Given the description of an element on the screen output the (x, y) to click on. 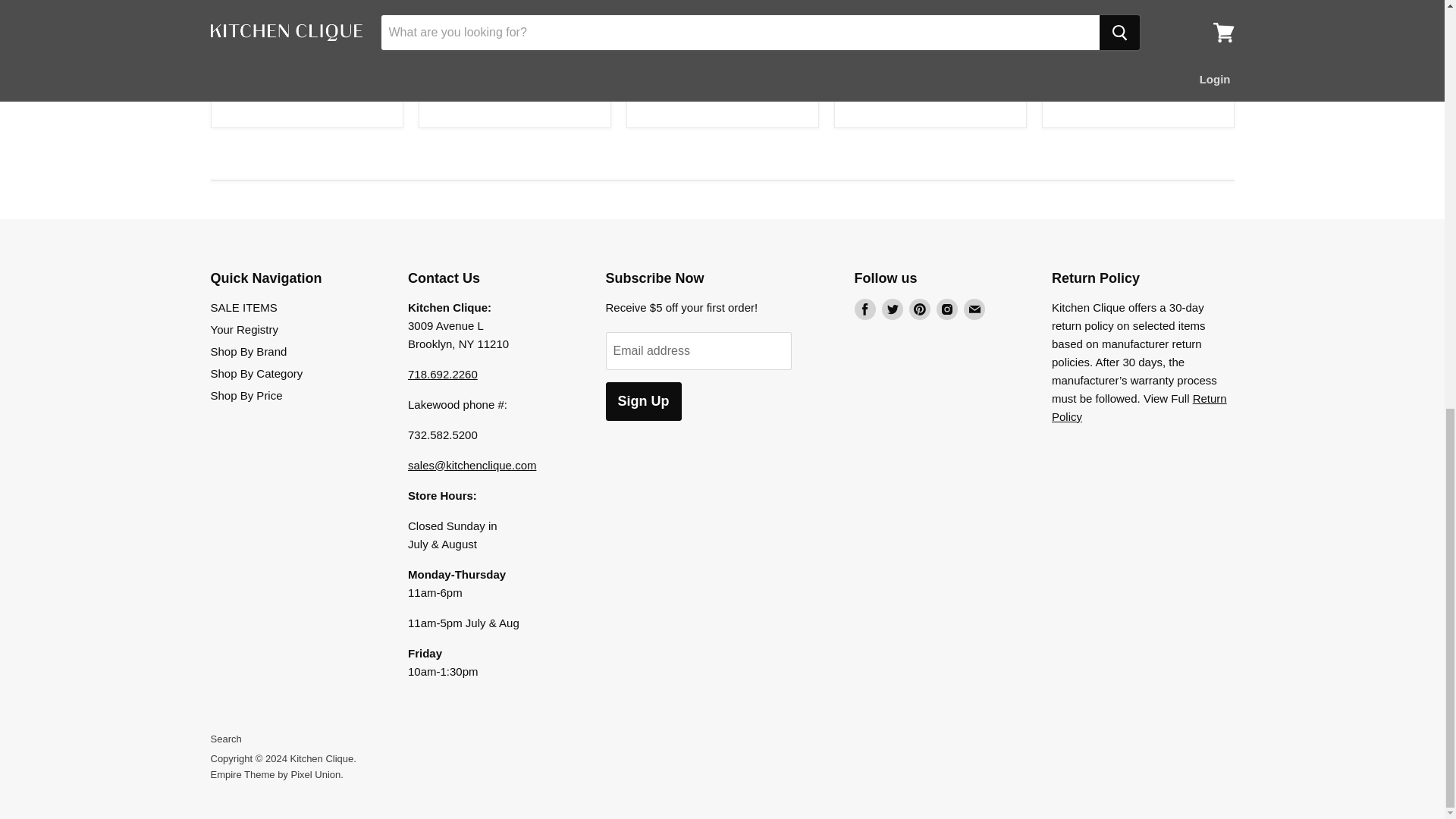
All Brands (1139, 406)
Facebook (863, 308)
E-mail (973, 308)
Twitter (891, 308)
tel:718-692-2260 (442, 373)
Pinterest (919, 308)
Instagram (946, 308)
